Given the description of an element on the screen output the (x, y) to click on. 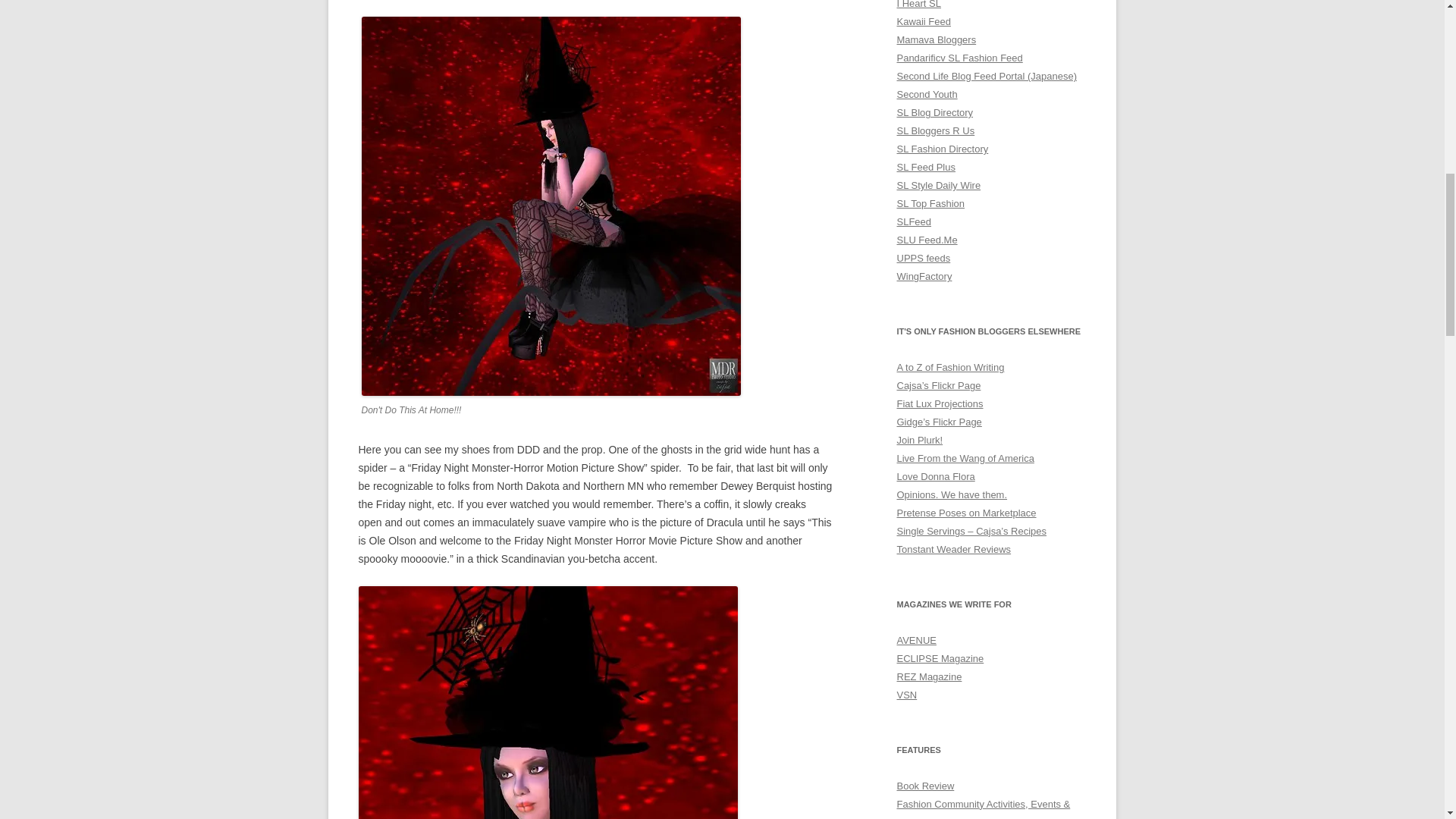
Email Address (1348, 167)
Op-eds on first and second life.  (951, 494)
Sign me up! (1312, 196)
